Given the description of an element on the screen output the (x, y) to click on. 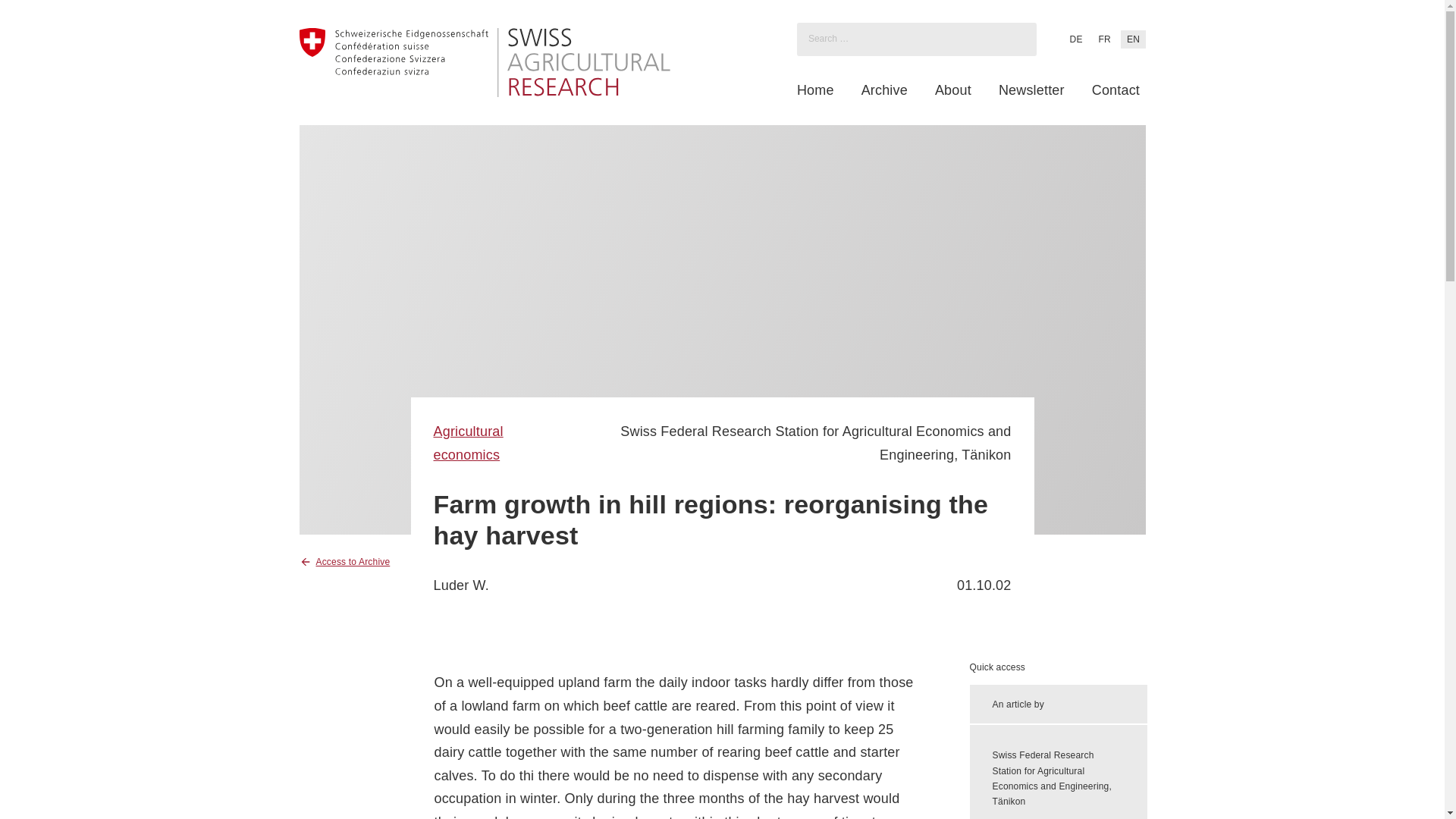
Contact (1116, 90)
Archive (884, 90)
Access to Archive (344, 561)
Home (815, 90)
Search (26, 13)
DE (1075, 39)
About (952, 90)
FR (1104, 39)
Agricultural economics (468, 443)
Newsletter (1031, 90)
